Given the description of an element on the screen output the (x, y) to click on. 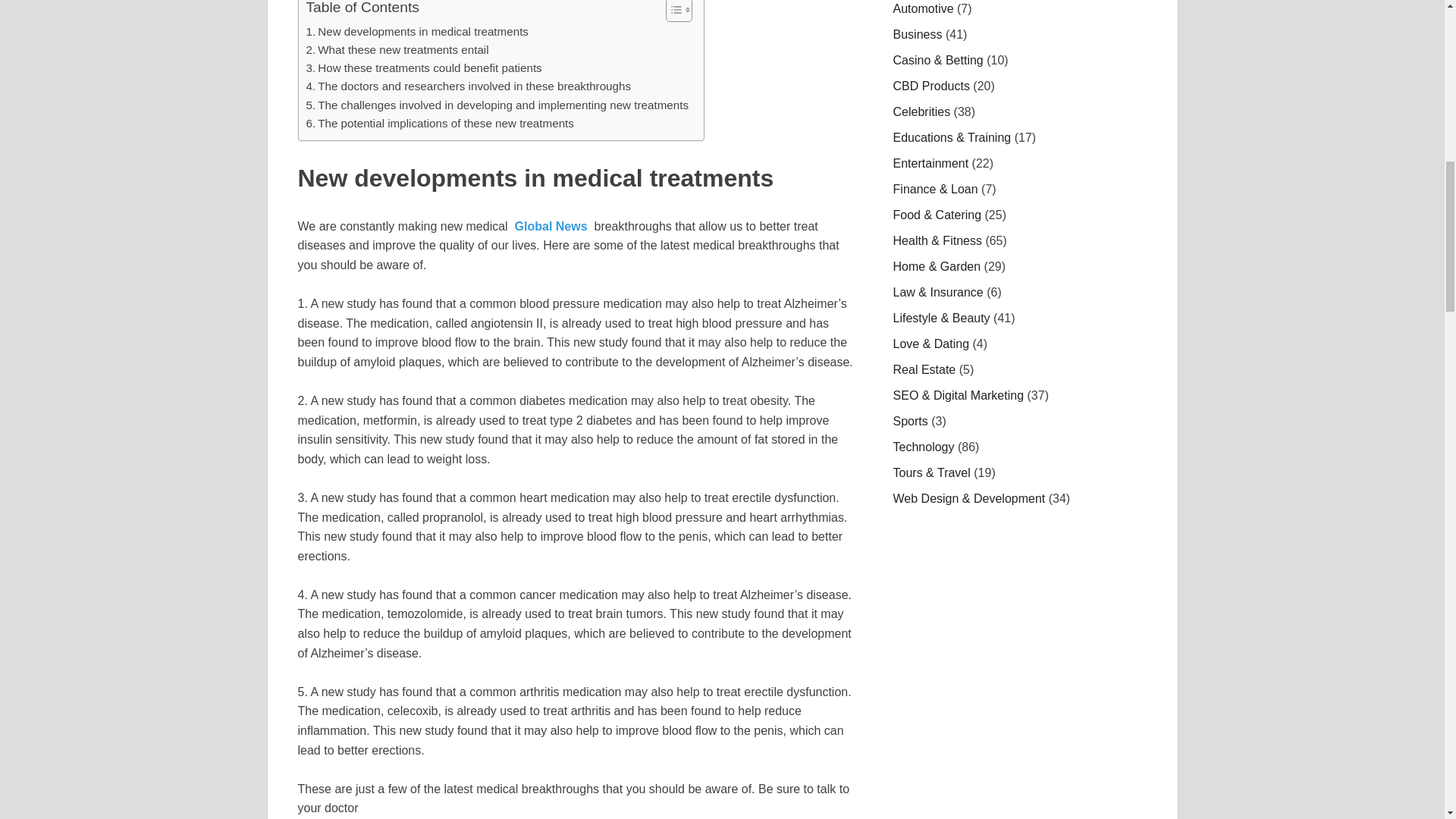
New developments in medical treatments (416, 31)
The doctors and researchers involved in these breakthroughs (468, 85)
What these new treatments entail (397, 49)
New developments in medical treatments (416, 31)
Global News (551, 226)
The doctors and researchers involved in these breakthroughs (468, 85)
How these treatments could benefit patients (423, 67)
What these new treatments entail (397, 49)
The potential implications of these new treatments (439, 123)
The potential implications of these new treatments (439, 123)
How these treatments could benefit patients (423, 67)
